Given the description of an element on the screen output the (x, y) to click on. 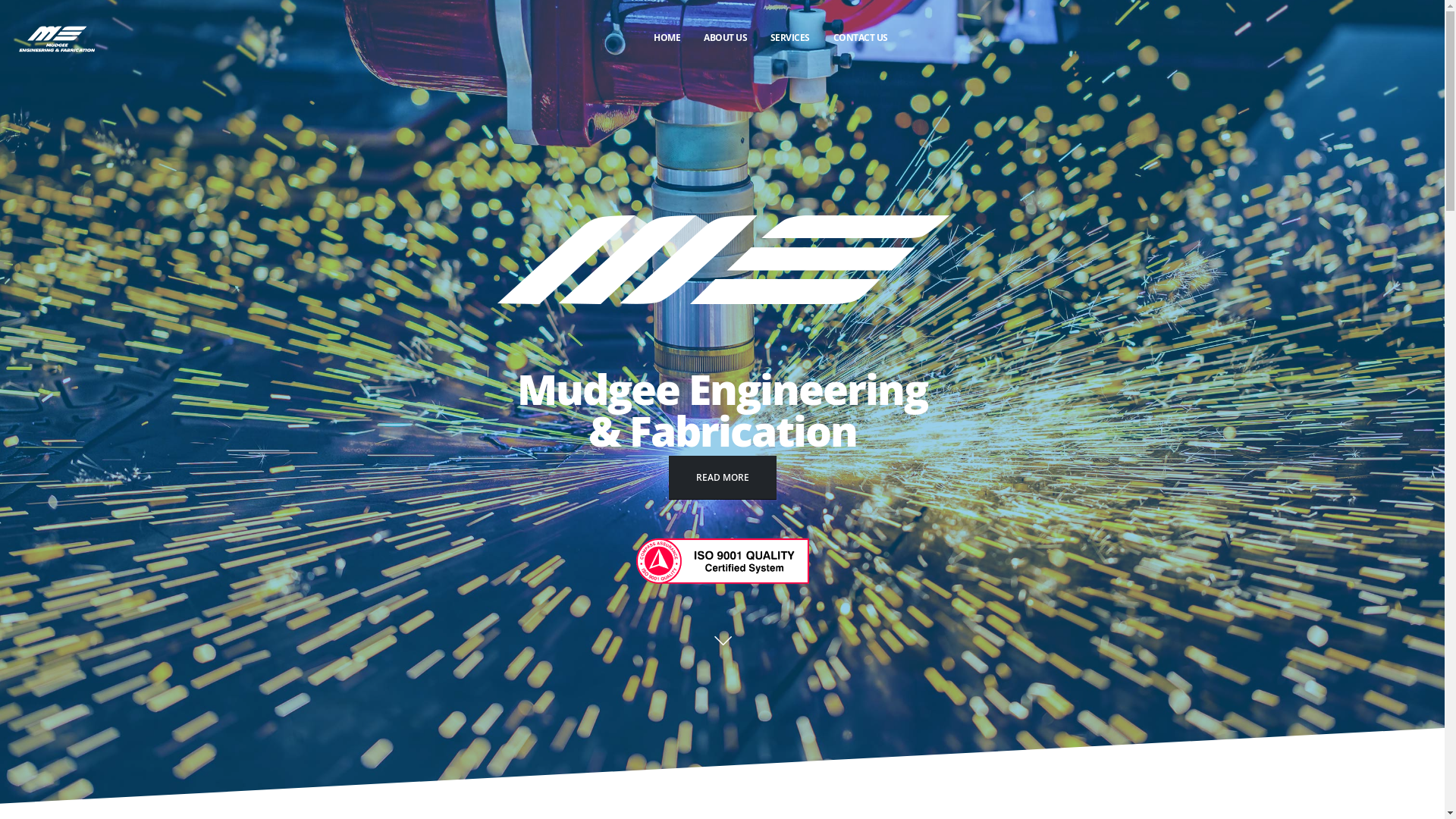
ABOUT US Element type: text (725, 37)
SERVICES Element type: text (790, 37)
CONTACT US Element type: text (860, 37)
HOME Element type: text (667, 37)
READ MORE Element type: text (722, 477)
